Given the description of an element on the screen output the (x, y) to click on. 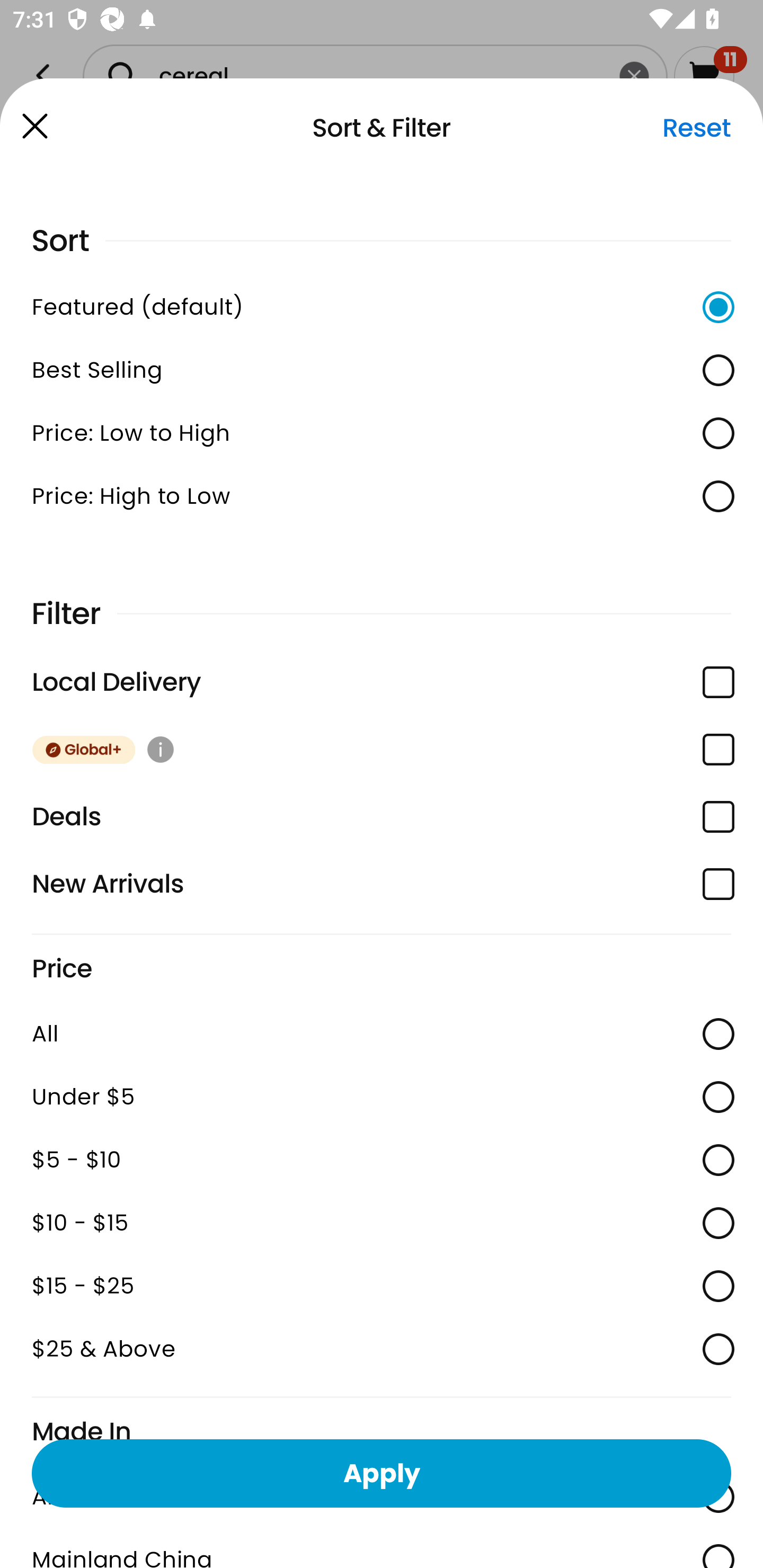
Reset (696, 127)
Apply (381, 1472)
